Given the description of an element on the screen output the (x, y) to click on. 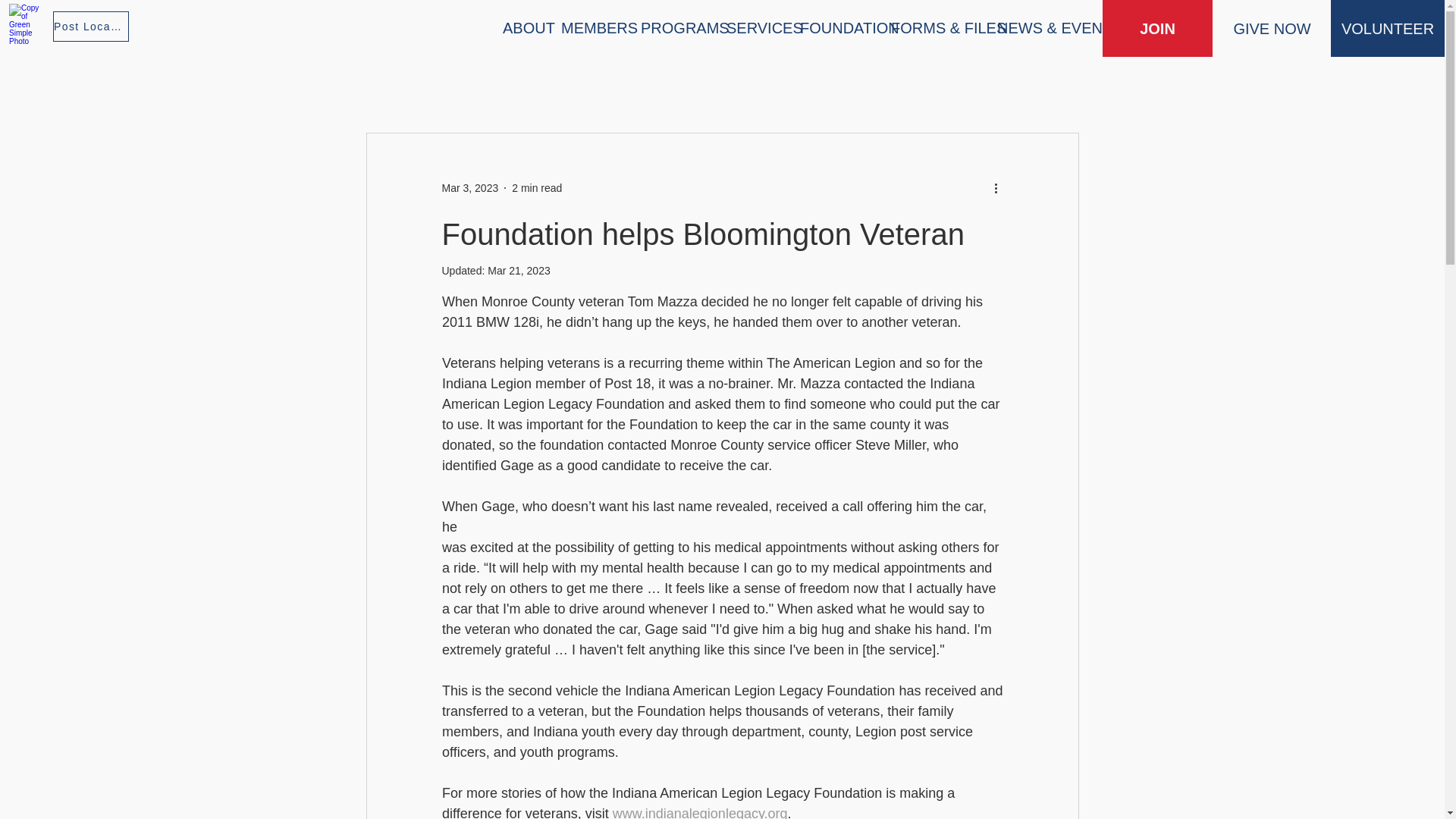
2 min read (537, 187)
Post Locator (90, 26)
Mar 3, 2023 (469, 187)
Mar 21, 2023 (518, 270)
PROGRAMS (671, 28)
MEMBERS (589, 28)
ABOUT (521, 28)
